Given the description of an element on the screen output the (x, y) to click on. 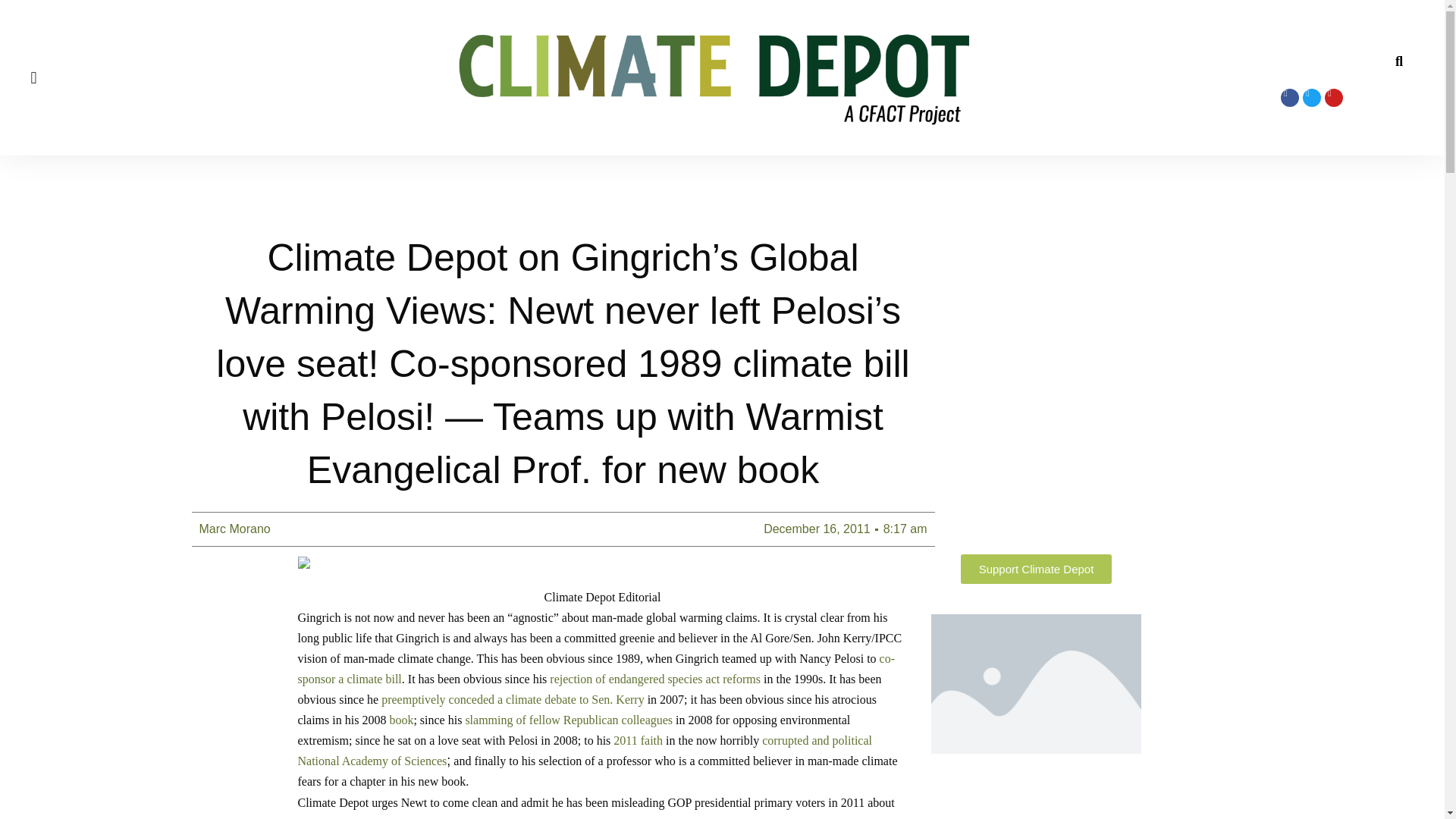
book (400, 719)
preemptively conceded a climate debate to Sen. Kerry (513, 698)
corrupted and political National Academy of Sciences (584, 750)
Marc Morano (233, 529)
2011 faith (637, 739)
co-sponsor a climate bill (596, 668)
December 16, 2011 (816, 529)
rejection of endangered species act reforms (655, 678)
slamming of fellow Republican colleagues (568, 719)
